Given the description of an element on the screen output the (x, y) to click on. 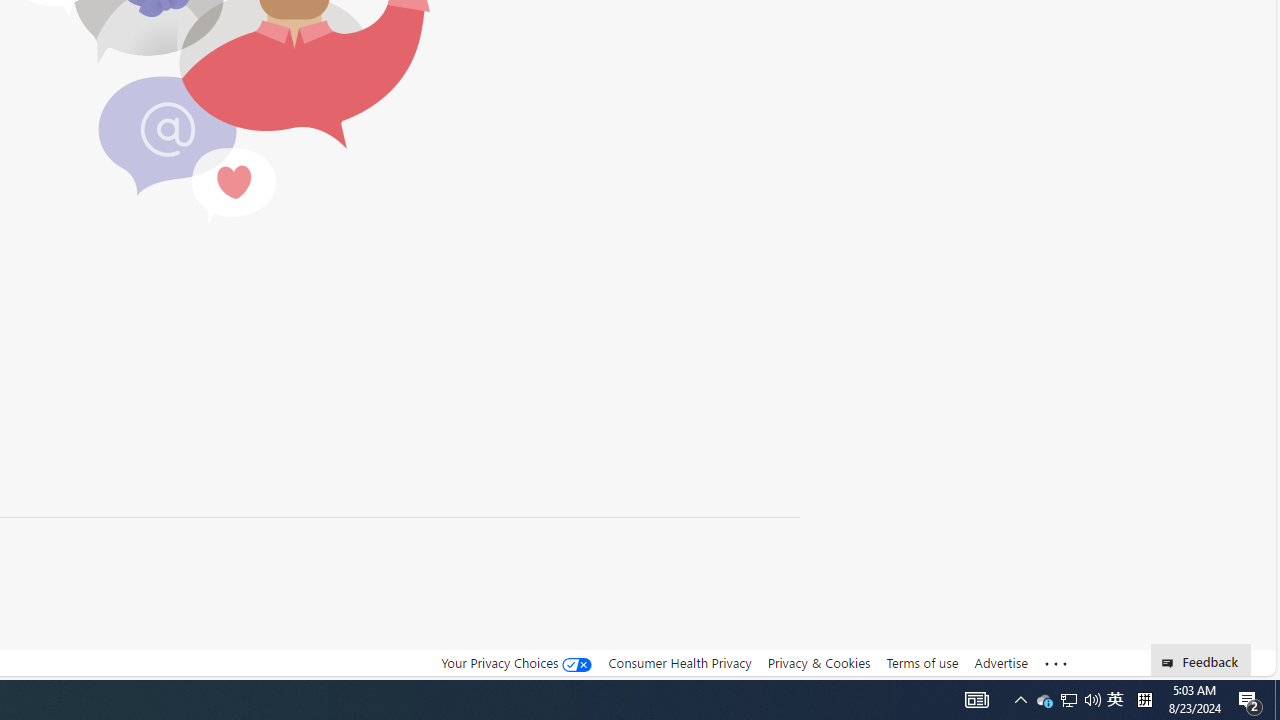
Advertise (1000, 662)
Your Privacy Choices (516, 662)
Advertise (1000, 663)
Your Privacy Choices (516, 663)
Consumer Health Privacy (680, 663)
See more (1055, 664)
Privacy & Cookies (818, 662)
Feedback (1200, 659)
Consumer Health Privacy (680, 662)
Terms of use (921, 662)
Terms of use (921, 663)
Privacy & Cookies (818, 663)
Class: feedback_link_icon-DS-EntryPoint1-1 (1170, 663)
Class: oneFooter_seeMore-DS-EntryPoint1-1 (1055, 663)
